Given the description of an element on the screen output the (x, y) to click on. 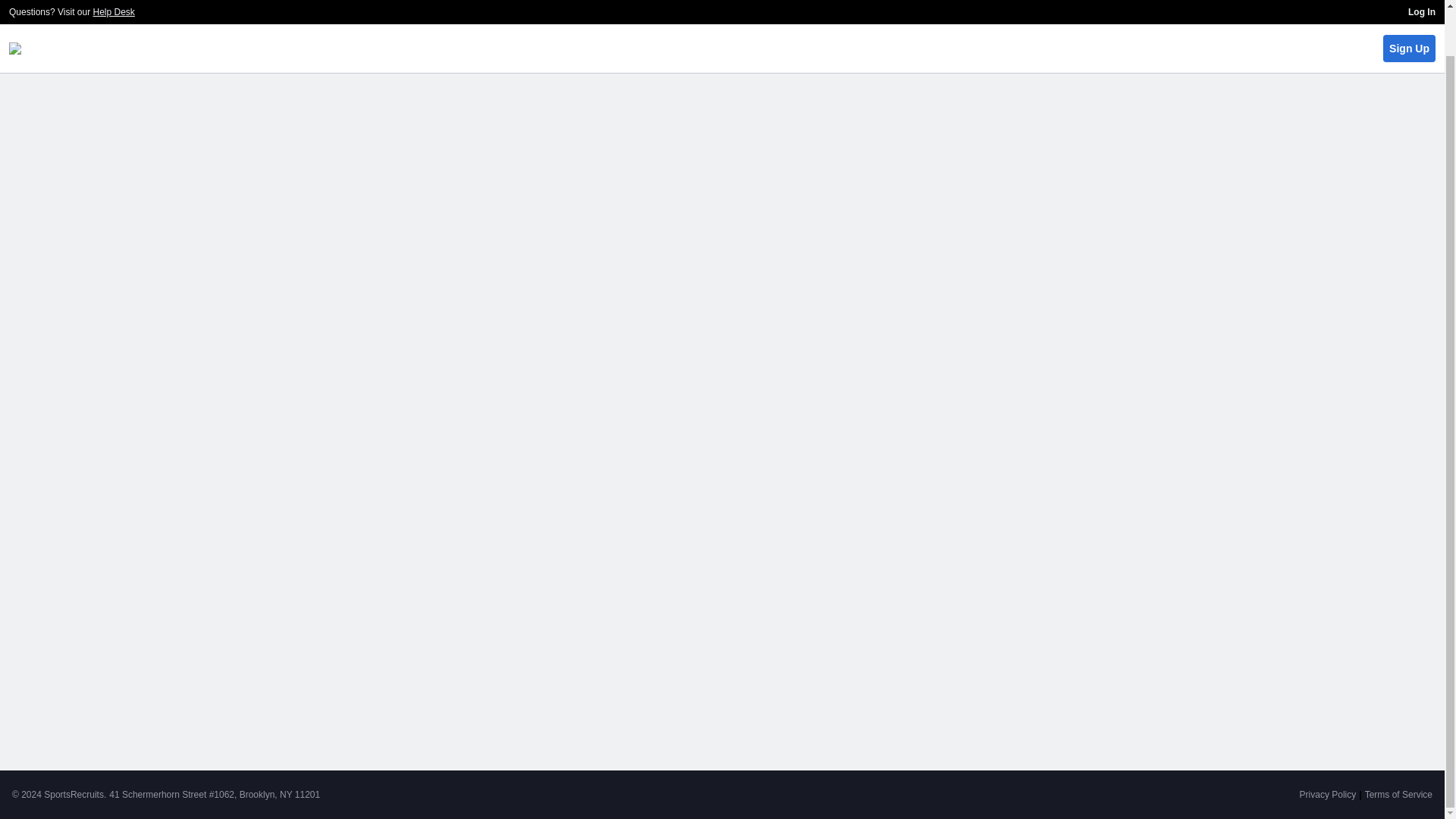
Sign Up (1409, 6)
Terms of Service (1398, 794)
Privacy Policy (1328, 794)
